Given the description of an element on the screen output the (x, y) to click on. 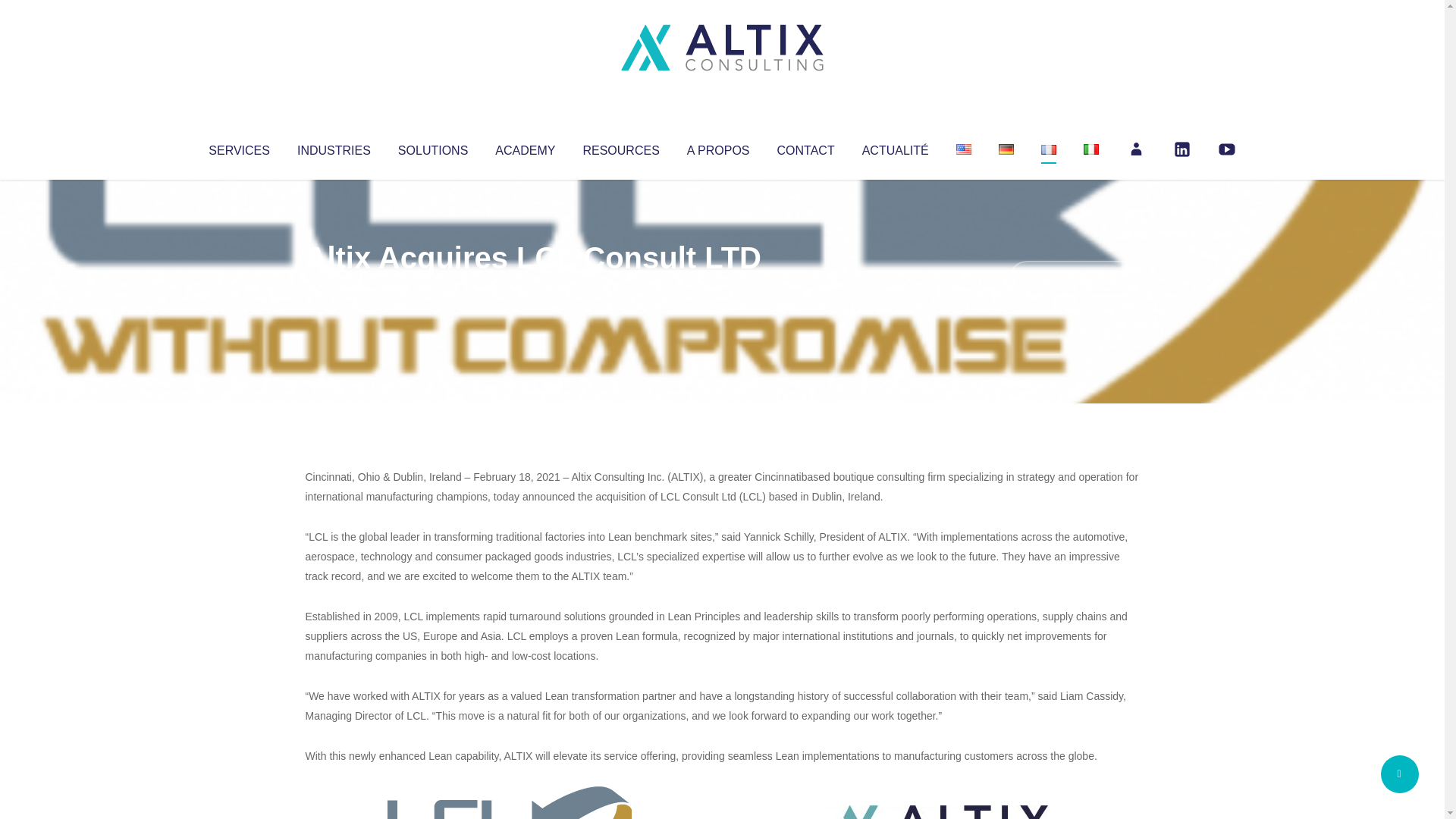
RESOURCES (620, 146)
No Comments (1073, 278)
SERVICES (238, 146)
SOLUTIONS (432, 146)
Articles par Altix (333, 287)
A PROPOS (718, 146)
ACADEMY (524, 146)
Uncategorized (530, 287)
INDUSTRIES (334, 146)
Altix (333, 287)
